Given the description of an element on the screen output the (x, y) to click on. 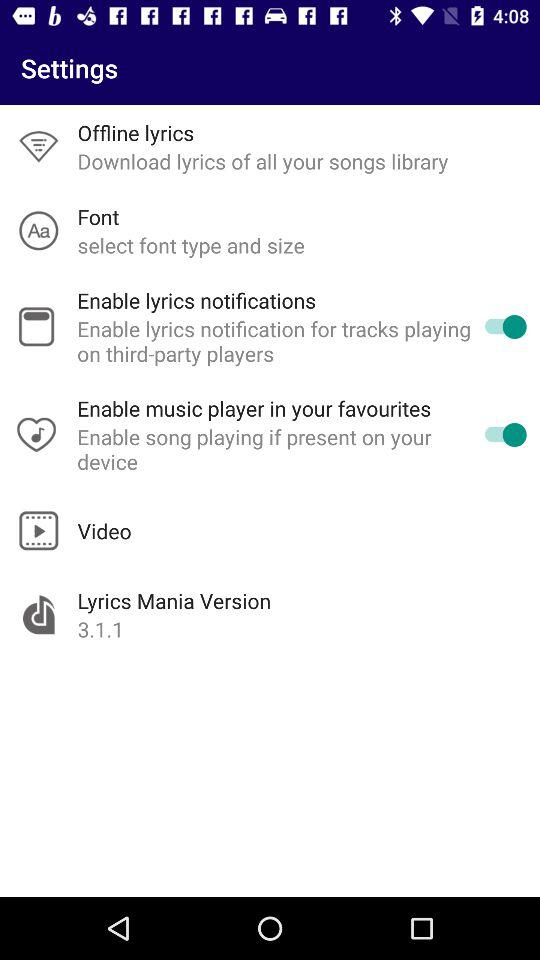
launch the item below font (190, 244)
